Given the description of an element on the screen output the (x, y) to click on. 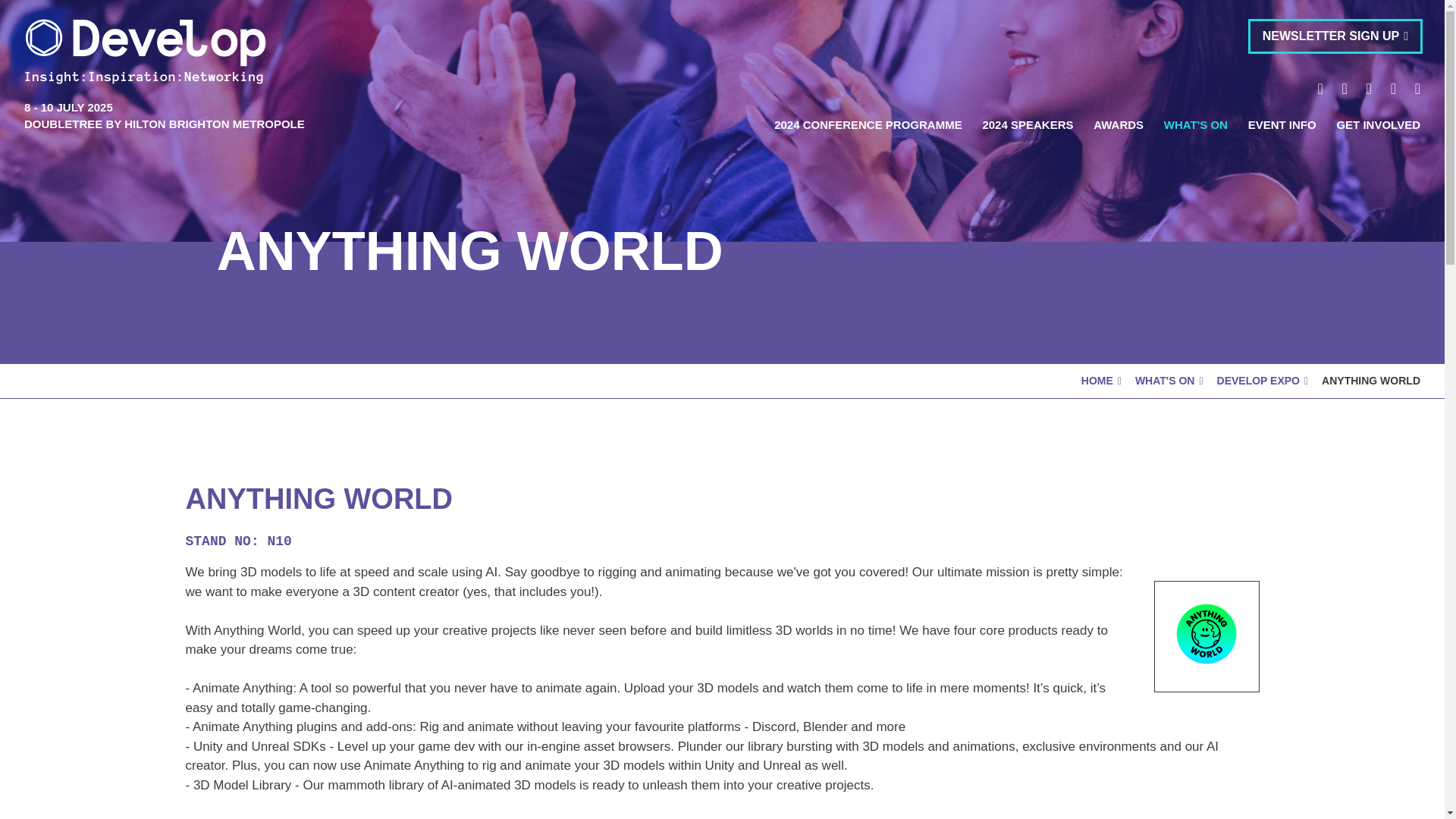
AWARDS (1117, 124)
2024 CONFERENCE PROGRAMME (868, 124)
2024 SPEAKERS (1027, 124)
NEWSLETTER SIGN UP (1335, 36)
WHAT'S ON (1195, 124)
